Given the description of an element on the screen output the (x, y) to click on. 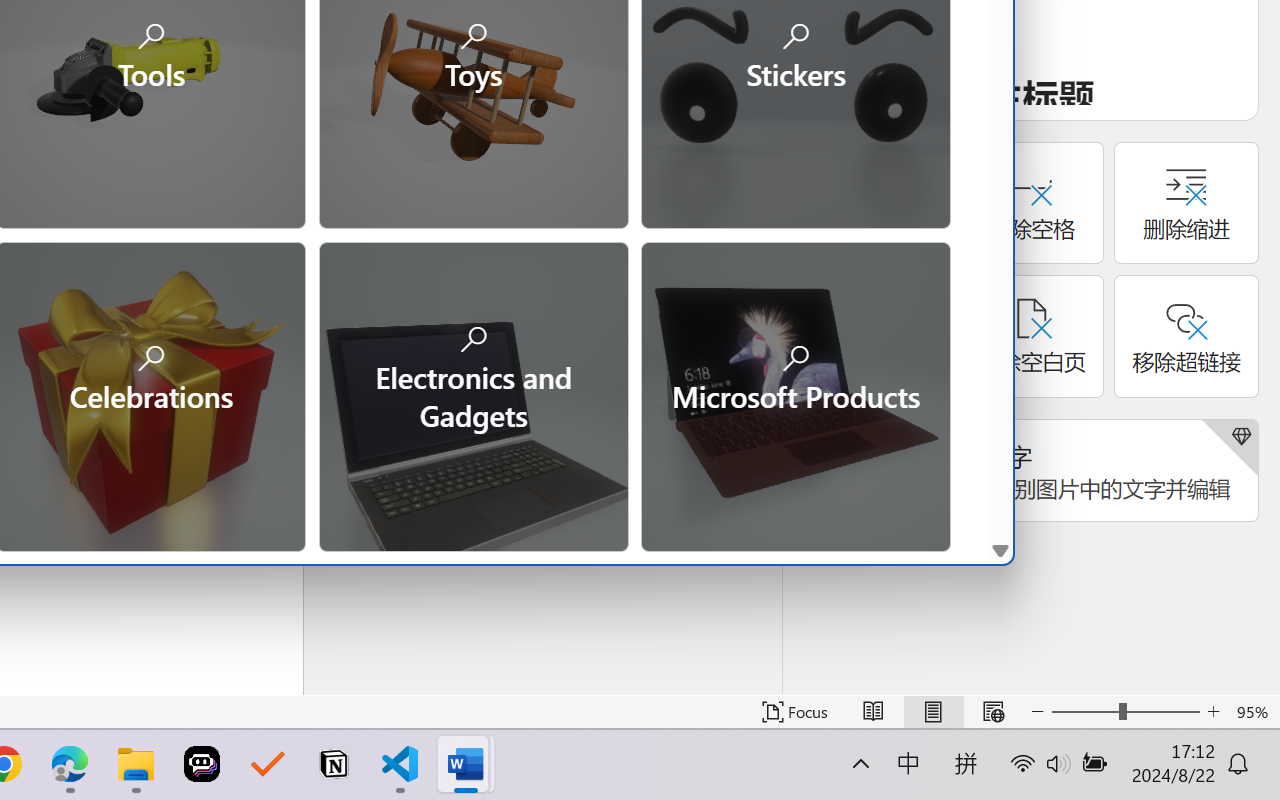
Microsoft Products (795, 394)
Zoom 95% (1253, 712)
